Given the description of an element on the screen output the (x, y) to click on. 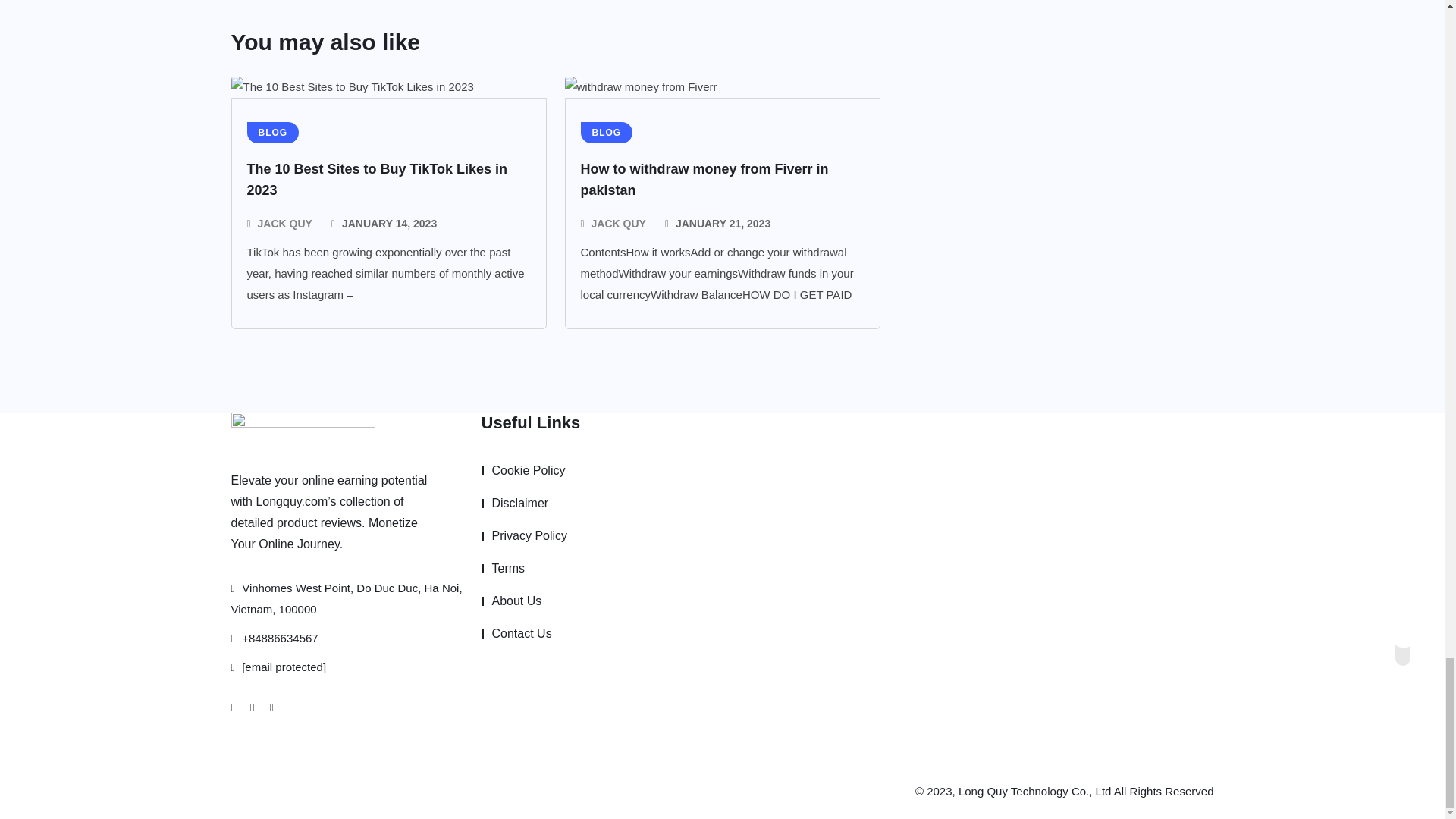
Posts by Jack Quy (285, 223)
How to withdraw money from Fiverr in pakistan 12 (640, 86)
Posts by Jack Quy (618, 223)
